Given the description of an element on the screen output the (x, y) to click on. 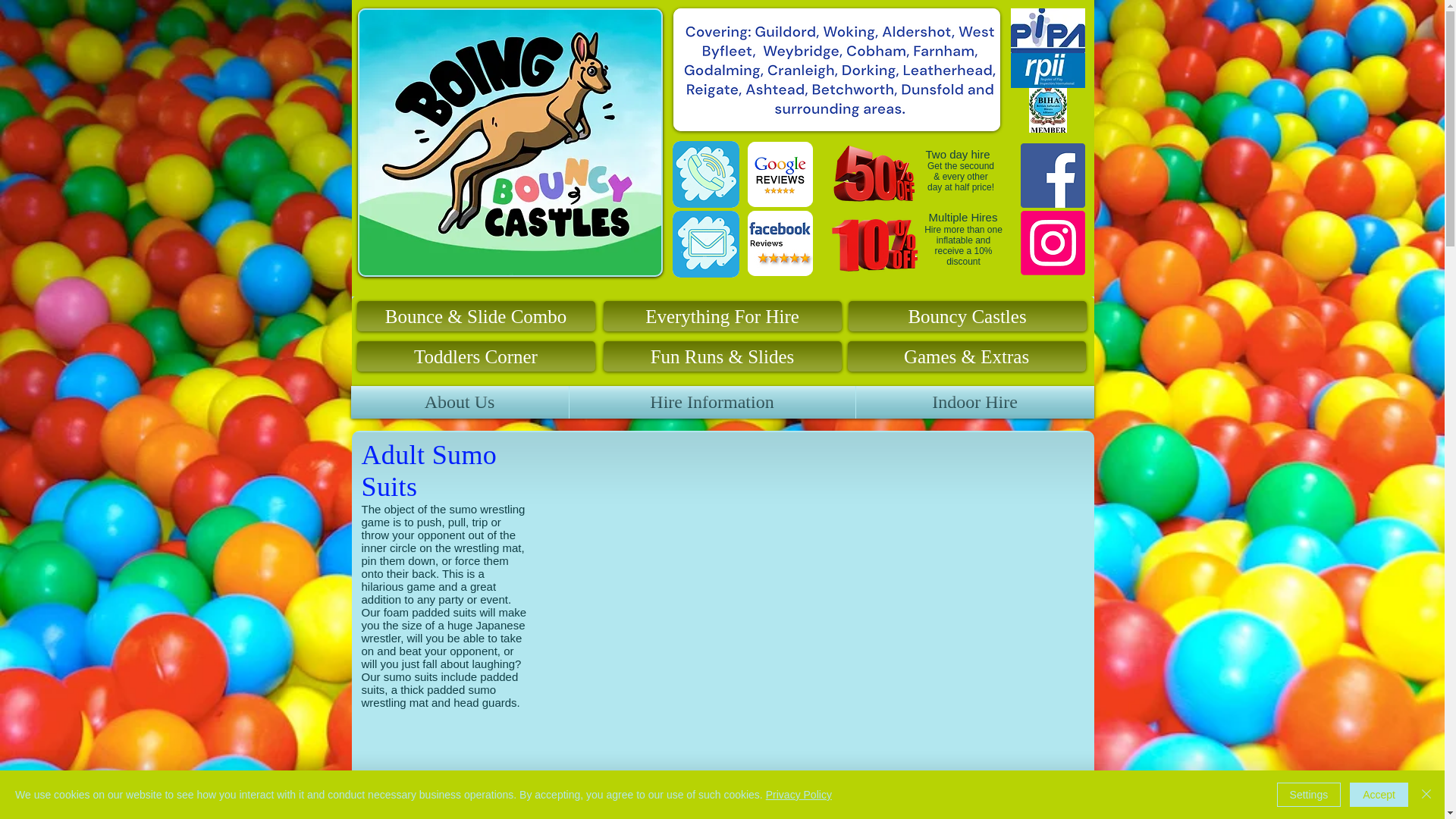
About Us (458, 401)
Two day hire (957, 154)
Everything For Hire (722, 316)
Multiple Hires (962, 216)
Hire Information (711, 401)
Two Day Hire (873, 179)
Toddlers Corner (475, 356)
Indoor Hire (974, 401)
Bouncy Castles (966, 316)
